Given the description of an element on the screen output the (x, y) to click on. 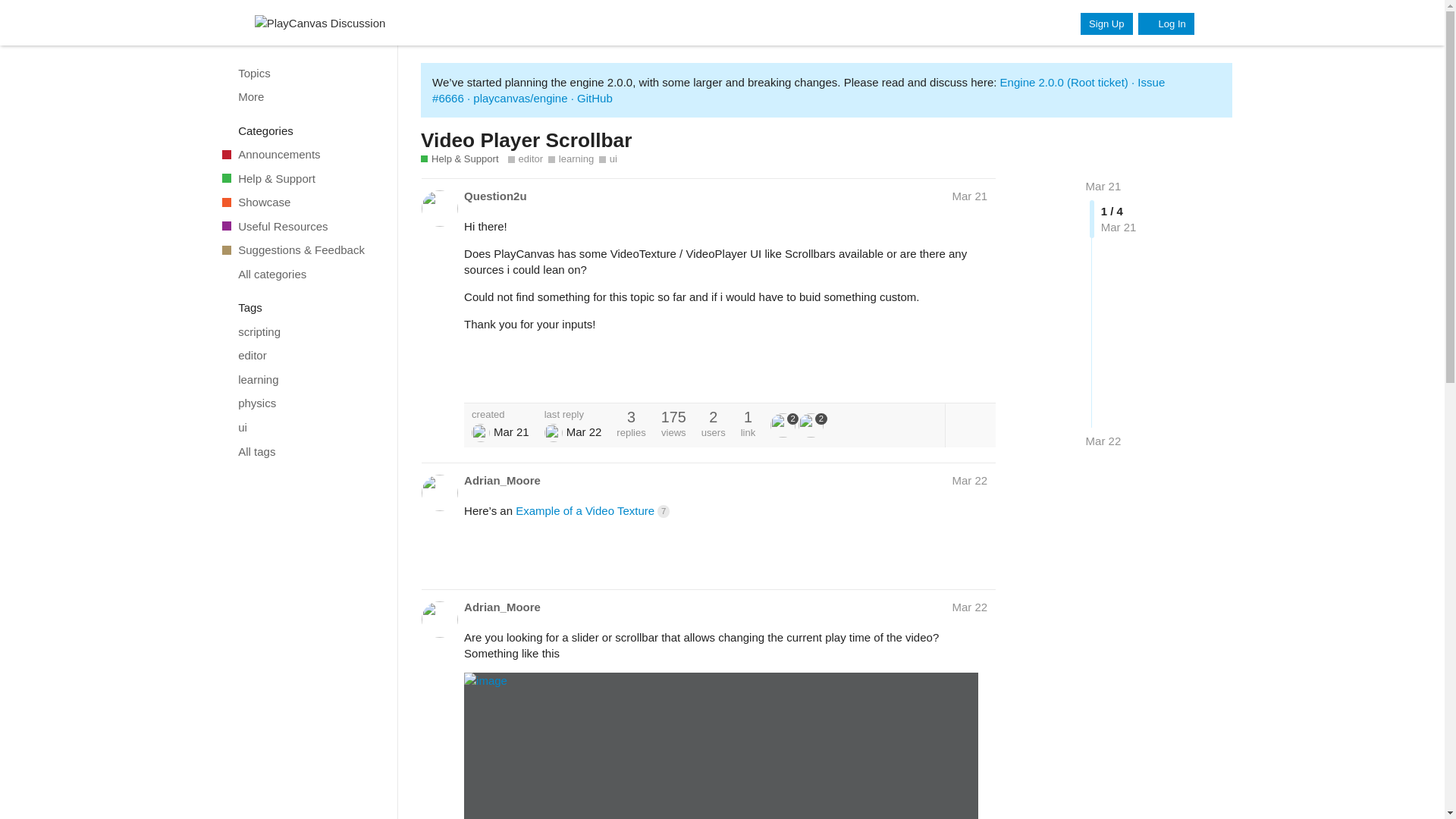
Keyboard Shortcuts (378, 805)
Showcase (301, 202)
learning (571, 159)
Hide sidebar (227, 22)
All categories (301, 274)
Question2u (495, 195)
Sign Up (1106, 24)
Video Player Scrollbar (525, 139)
ui (301, 427)
editor (301, 355)
Useful Resources (301, 225)
Announcements (301, 154)
ui (607, 159)
